Given the description of an element on the screen output the (x, y) to click on. 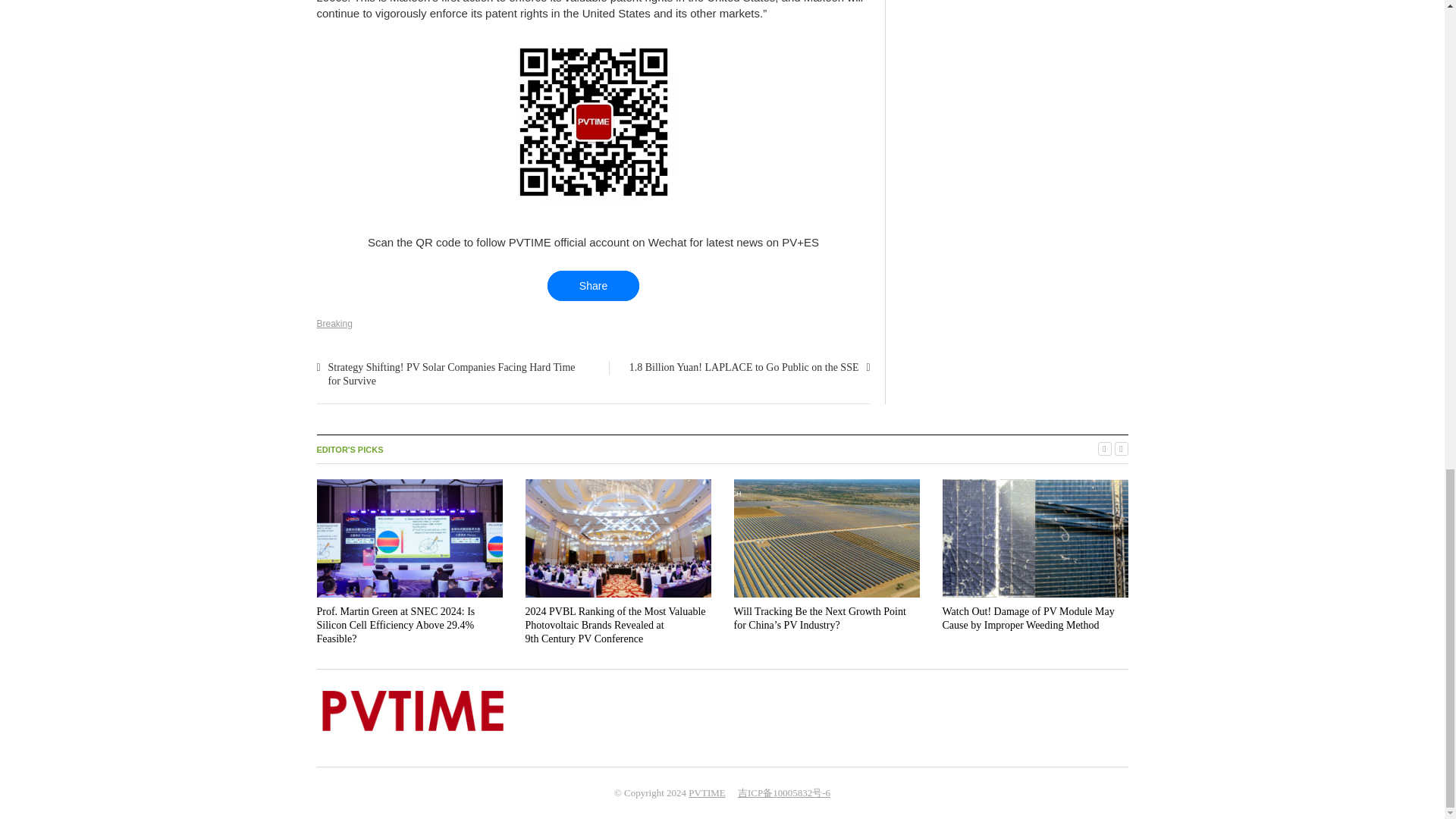
Share (593, 286)
Breaking (334, 323)
1.8 Billion Yuan! LAPLACE to Go Public on the SSE (743, 367)
